Given the description of an element on the screen output the (x, y) to click on. 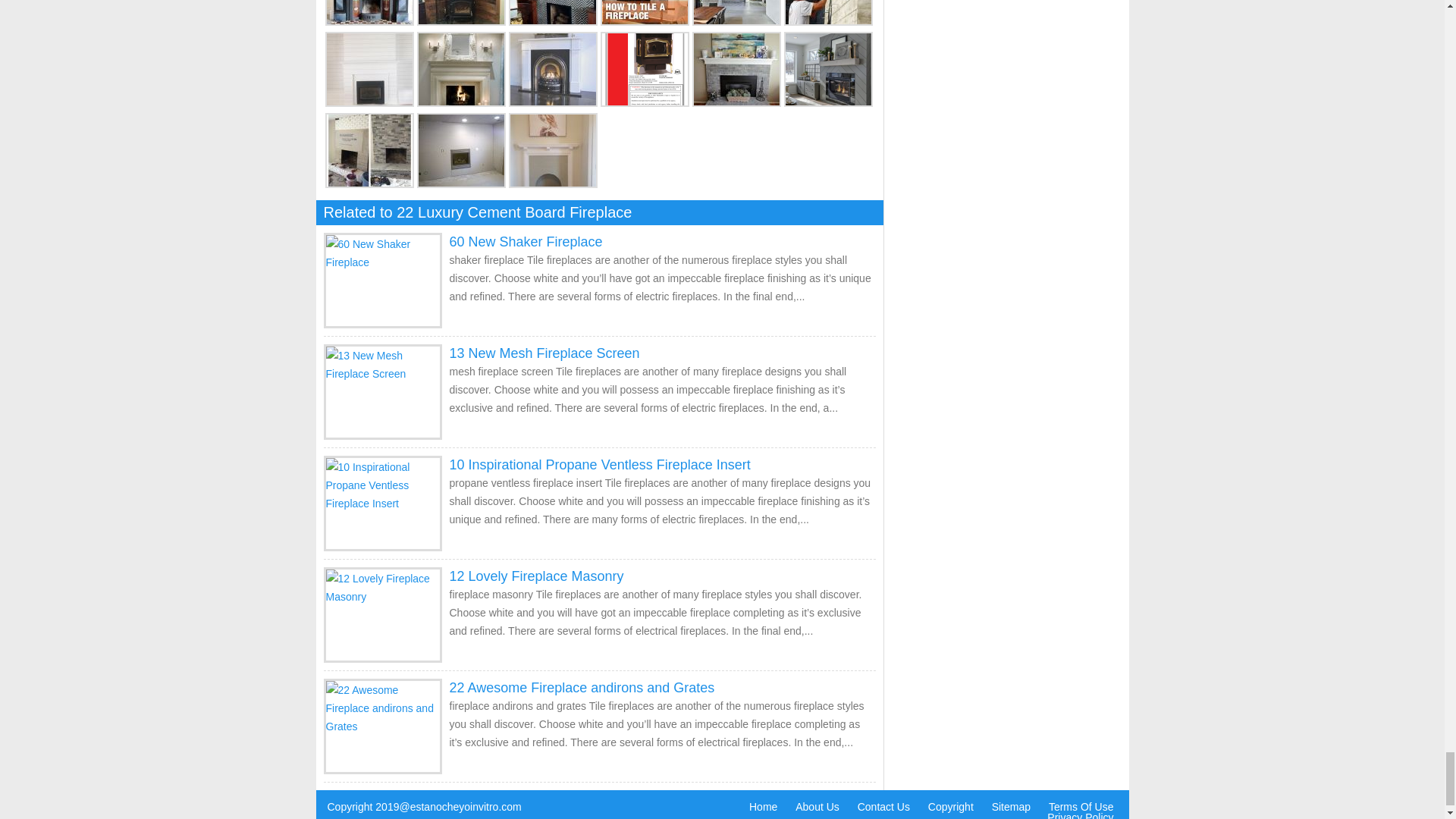
60 New Shaker Fireplace (525, 241)
13 New Mesh Fireplace Screen (543, 353)
